Given the description of an element on the screen output the (x, y) to click on. 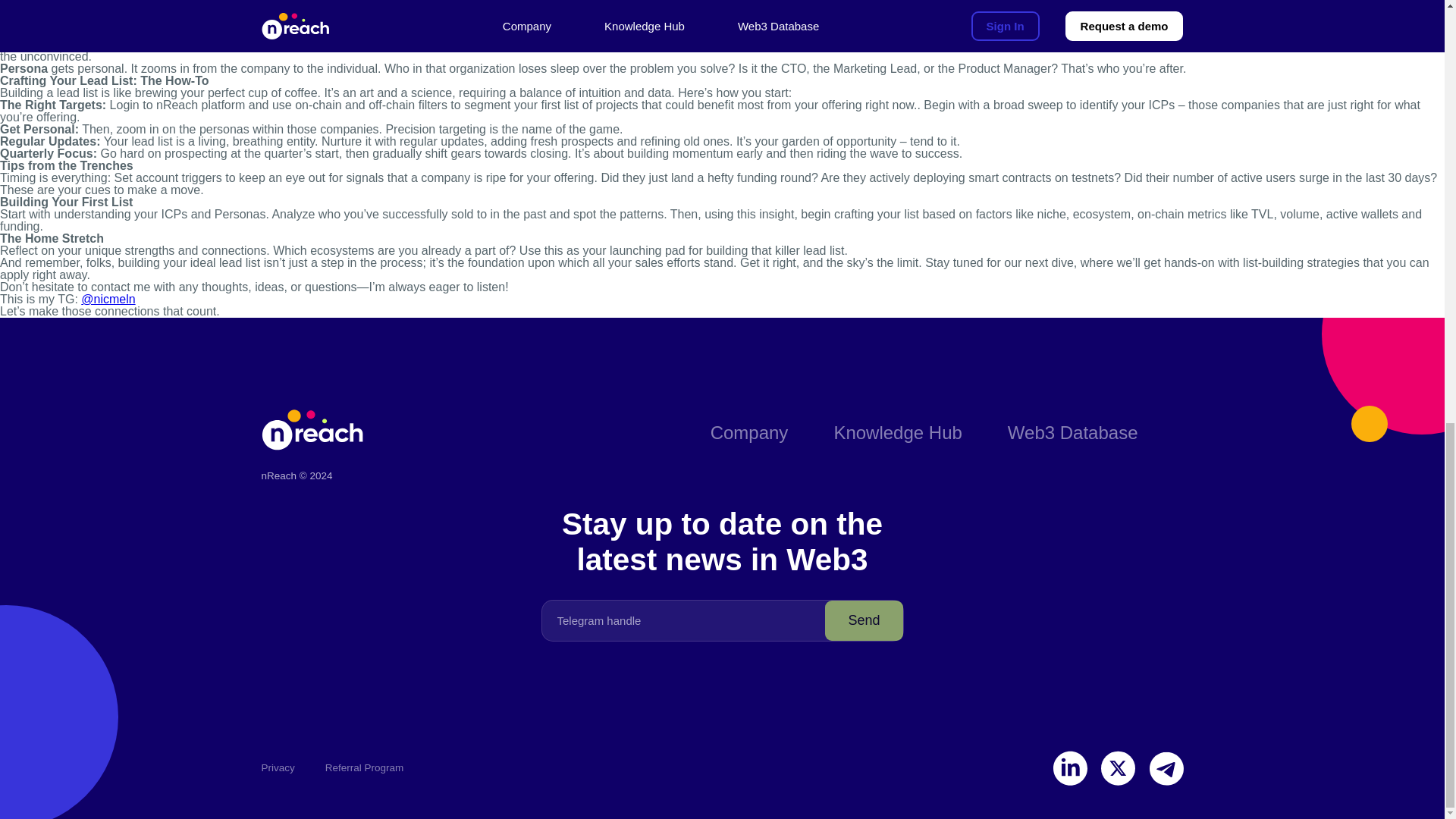
Send (863, 620)
Referral Program (364, 767)
Send (863, 620)
Knowledge Hub (896, 432)
Company (749, 432)
Web3 Database (1072, 432)
